Given the description of an element on the screen output the (x, y) to click on. 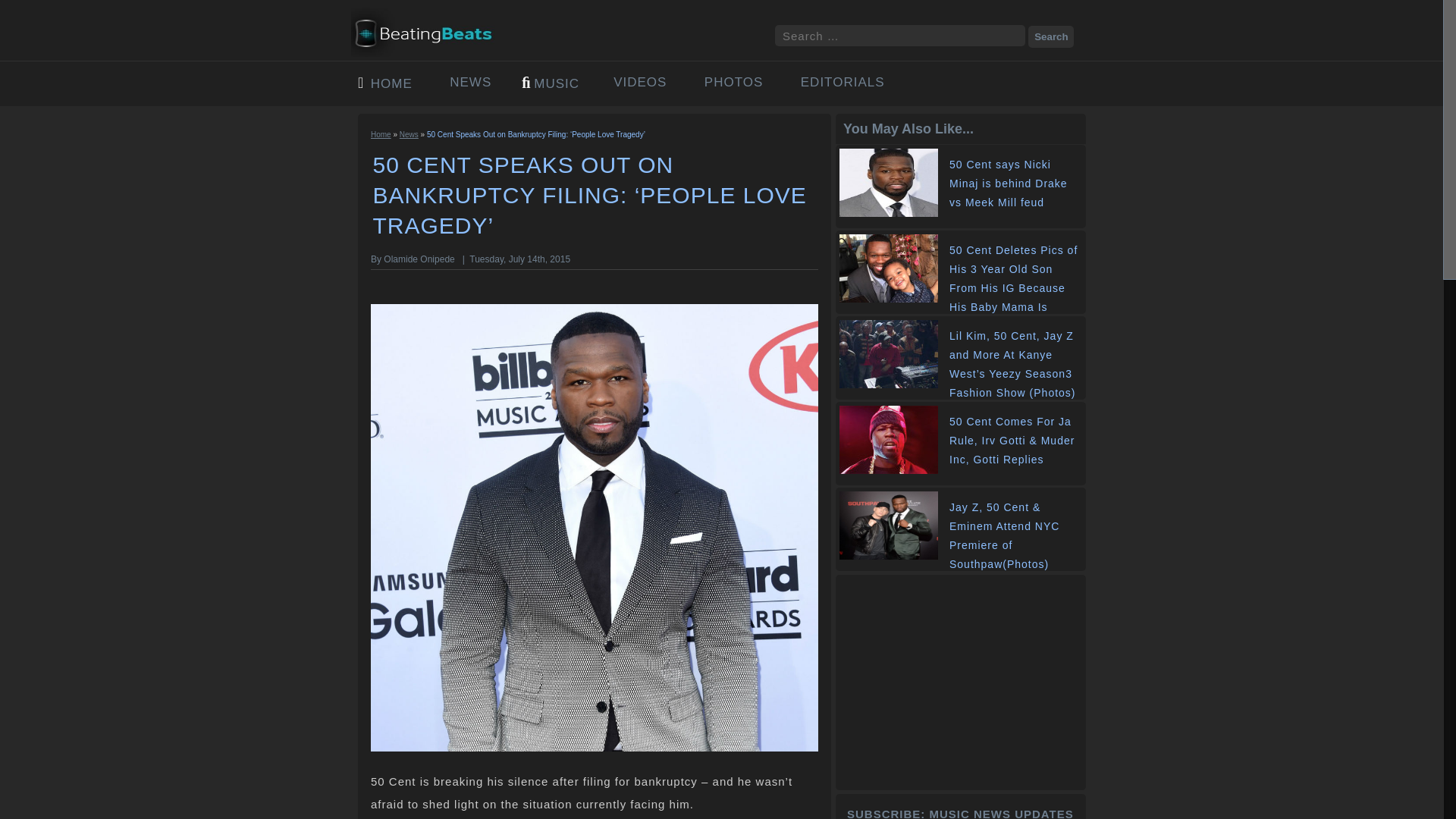
MUSIC (556, 83)
Search (1050, 36)
News (408, 134)
EDITORIALS (842, 82)
VIDEOS (639, 82)
Home (381, 134)
BeatingBeats.com (430, 51)
PHOTOS (733, 82)
Search (1050, 36)
NEWS (470, 82)
